Given the description of an element on the screen output the (x, y) to click on. 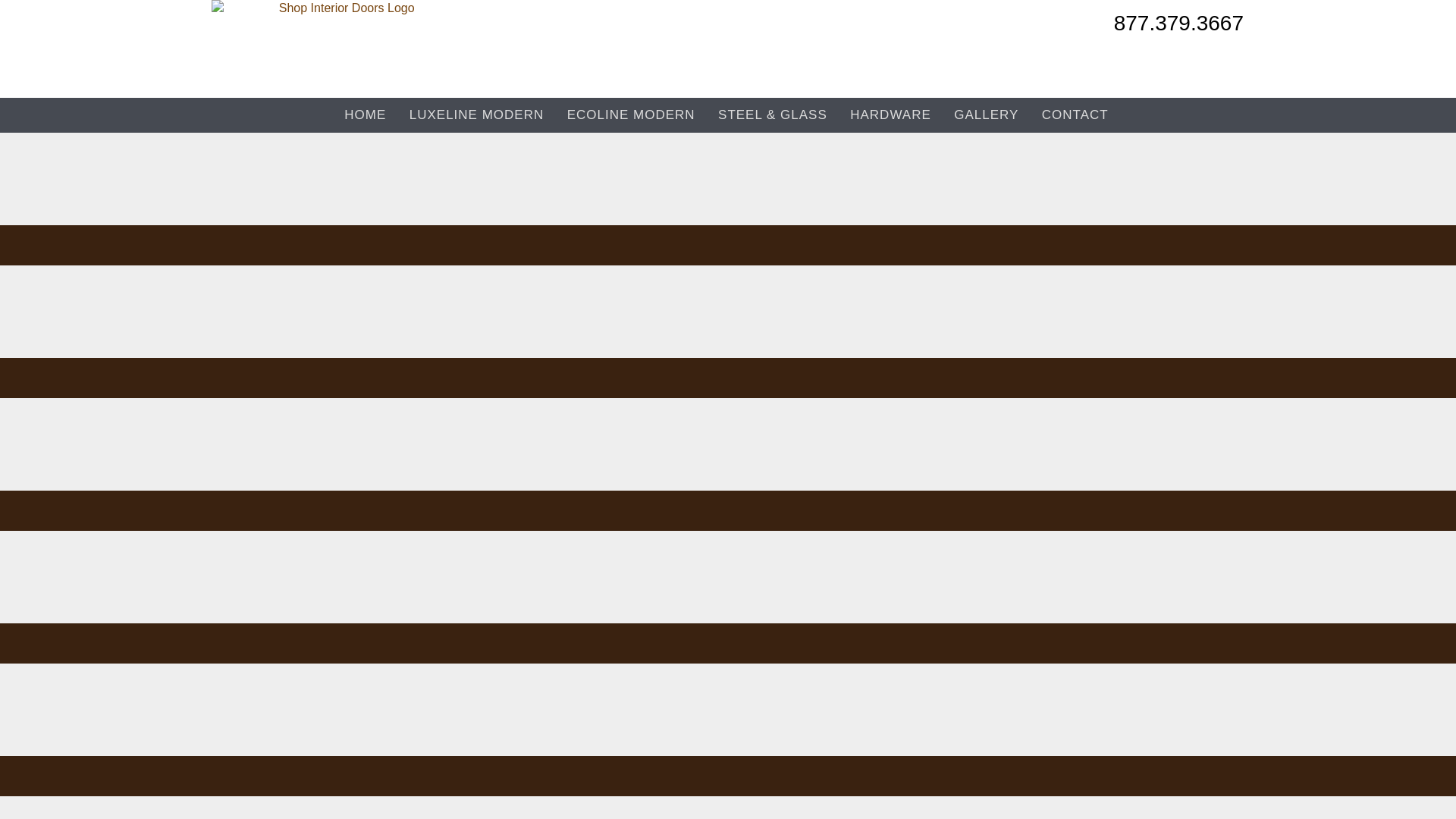
GALLERY (985, 114)
ECOLINE MODERN (631, 114)
CONTACT (1074, 114)
LUXELINE MODERN (475, 114)
HARDWARE (890, 114)
HOME (365, 114)
877.379.3667 (1178, 27)
